Given the description of an element on the screen output the (x, y) to click on. 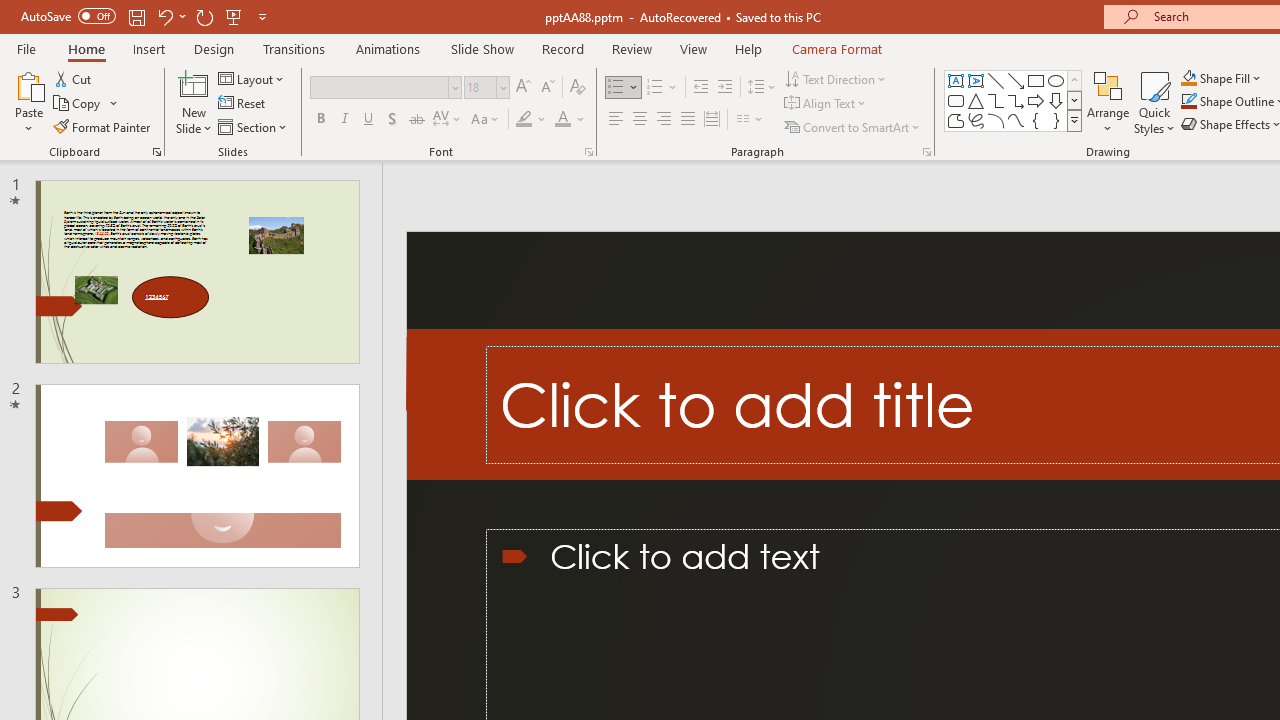
Row Down (1074, 100)
Convert to SmartArt (853, 126)
Section (254, 126)
Shape Fill Aqua, Accent 2 (1188, 78)
Underline (369, 119)
Numbering (661, 87)
Arc (995, 120)
Text Highlight Color Yellow (524, 119)
Paragraph... (926, 151)
Camera Format (836, 48)
Reset (243, 103)
